Given the description of an element on the screen output the (x, y) to click on. 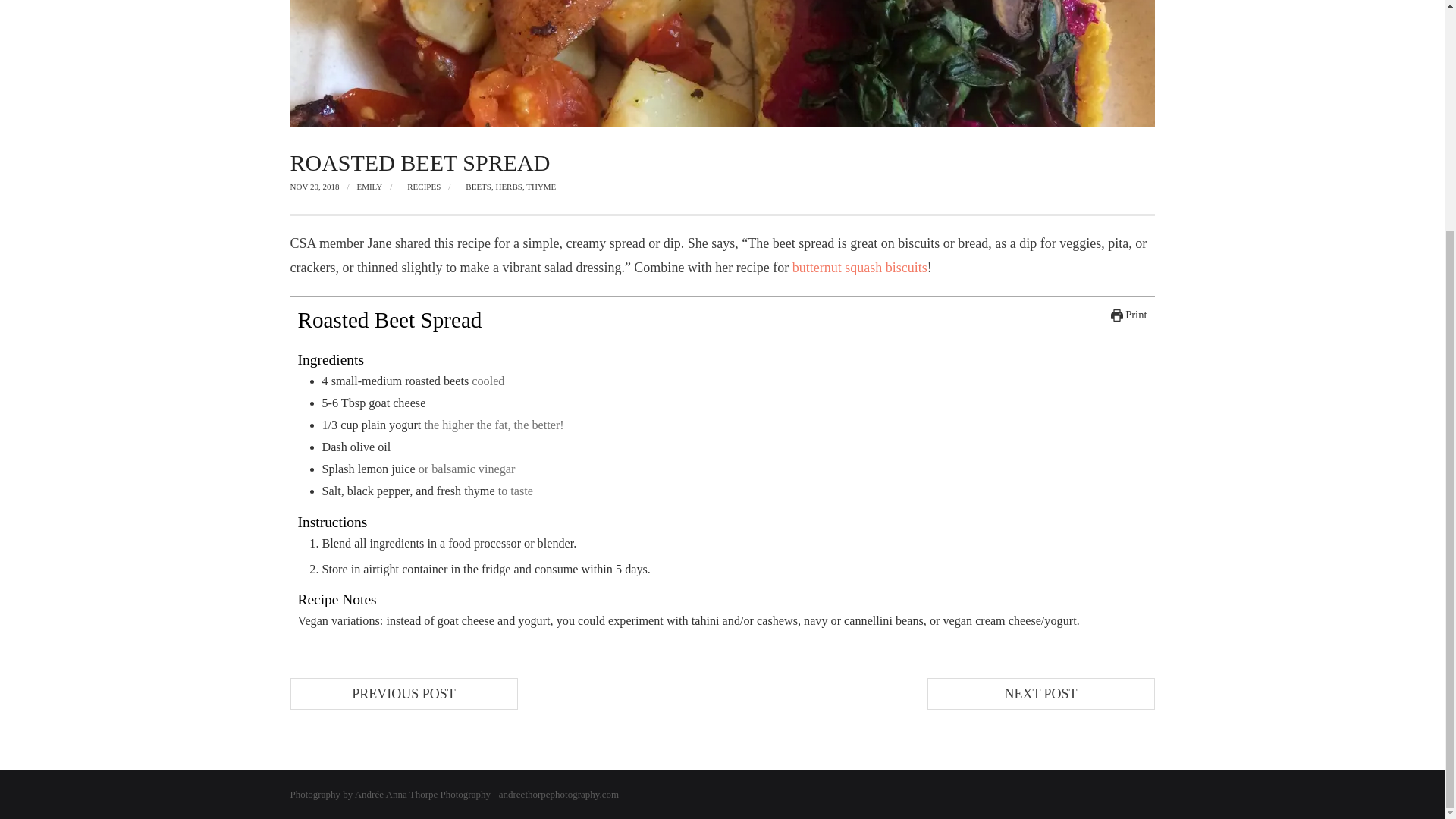
View all posts by Emily (368, 185)
THYME (540, 185)
RECIPES (424, 185)
HERBS (508, 185)
PREVIOUS POST (402, 694)
BEETS (478, 185)
EMILY (368, 185)
Print (1128, 314)
NOV 20, 2018 (314, 185)
NEXT POST (1040, 694)
